Given the description of an element on the screen output the (x, y) to click on. 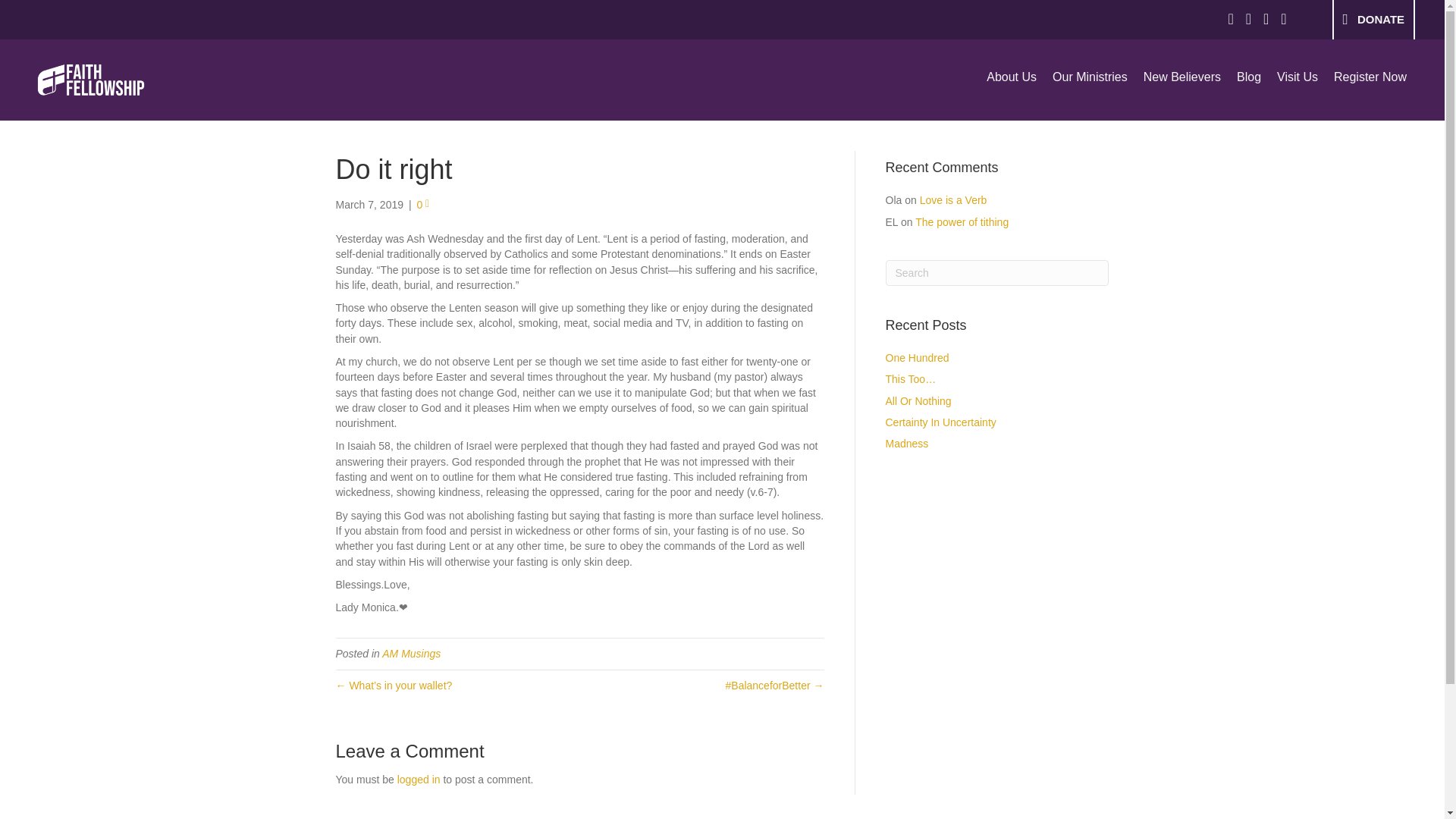
Madness (906, 443)
Certainty In Uncertainty (940, 422)
Type and press Enter to search. (997, 272)
Love is a Verb (953, 200)
Our Ministries (1090, 76)
Register Now (1369, 76)
The power of tithing (962, 222)
All Or Nothing (918, 400)
logged in (419, 779)
About Us (1010, 76)
